Given the description of an element on the screen output the (x, y) to click on. 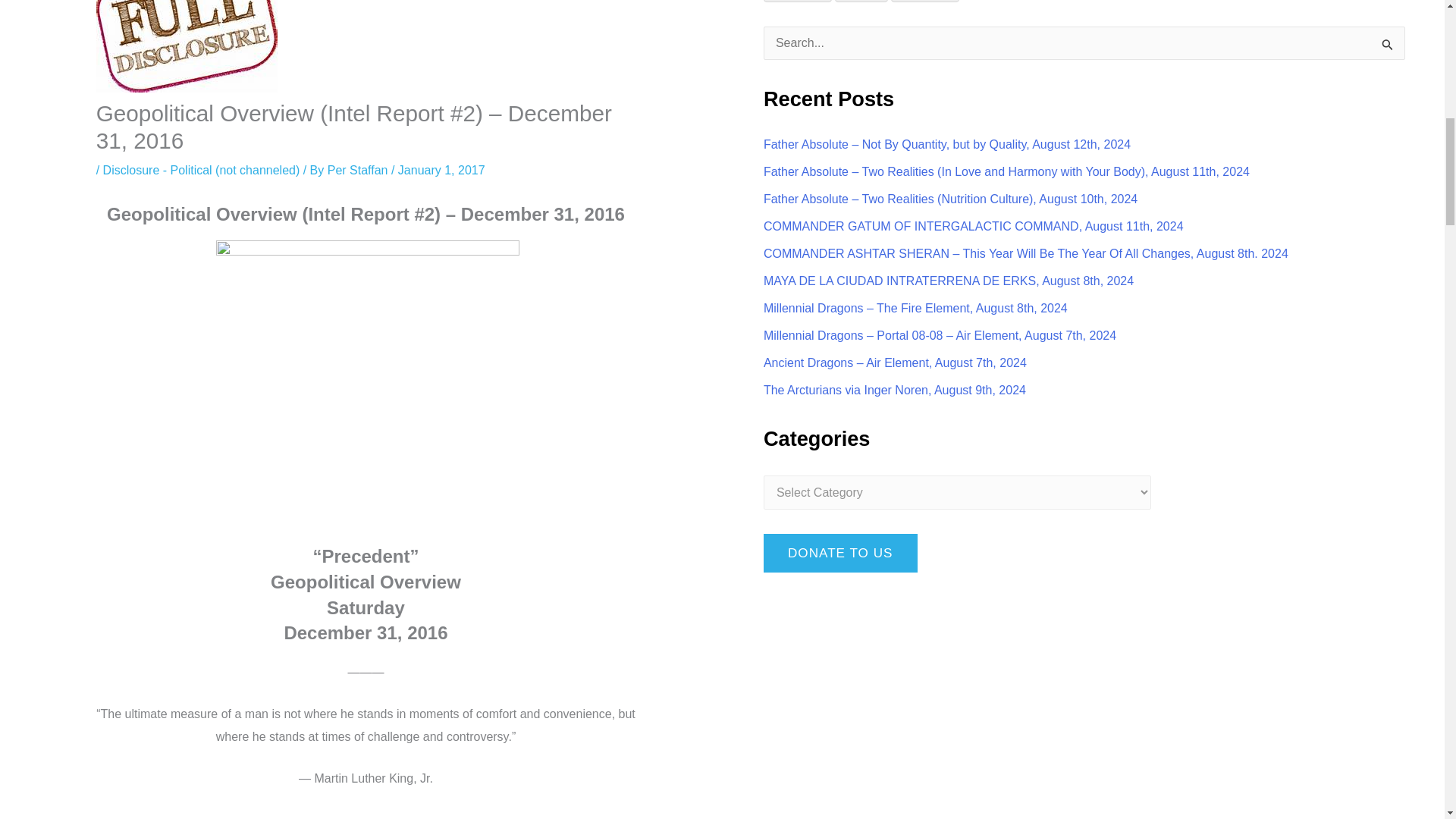
View all posts by Per Staffan (359, 169)
Register (796, 1)
Per Staffan (359, 169)
